Given the description of an element on the screen output the (x, y) to click on. 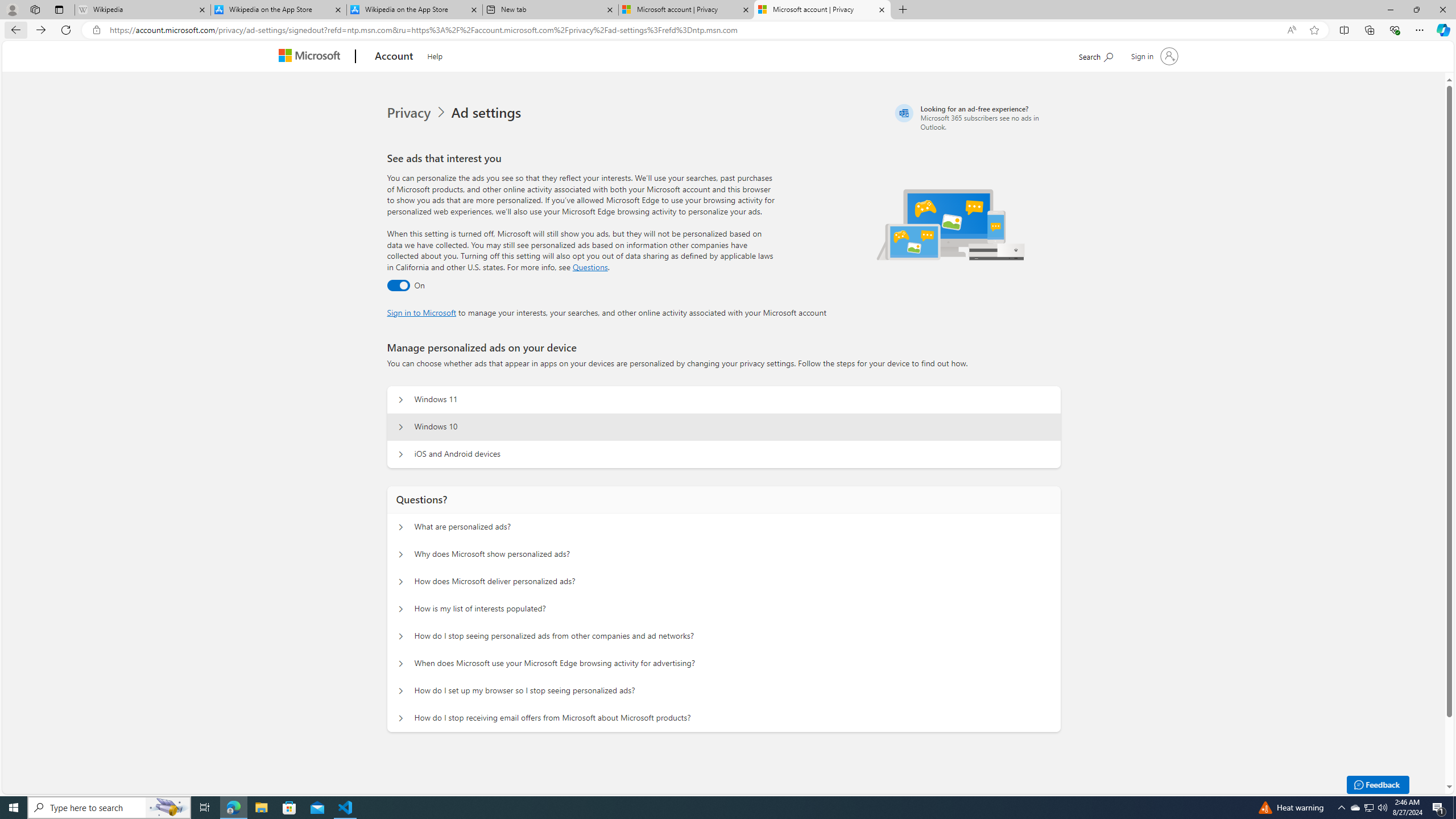
Personal Profile (12, 9)
Ad settings (488, 112)
Go to Questions section (590, 266)
Questions? How does Microsoft deliver personalized ads? (401, 581)
Microsoft account | Privacy (822, 9)
Illustration of multiple devices (951, 224)
Close tab (881, 9)
Split screen (1344, 29)
Add this page to favorites (Ctrl+D) (1314, 29)
